Given the description of an element on the screen output the (x, y) to click on. 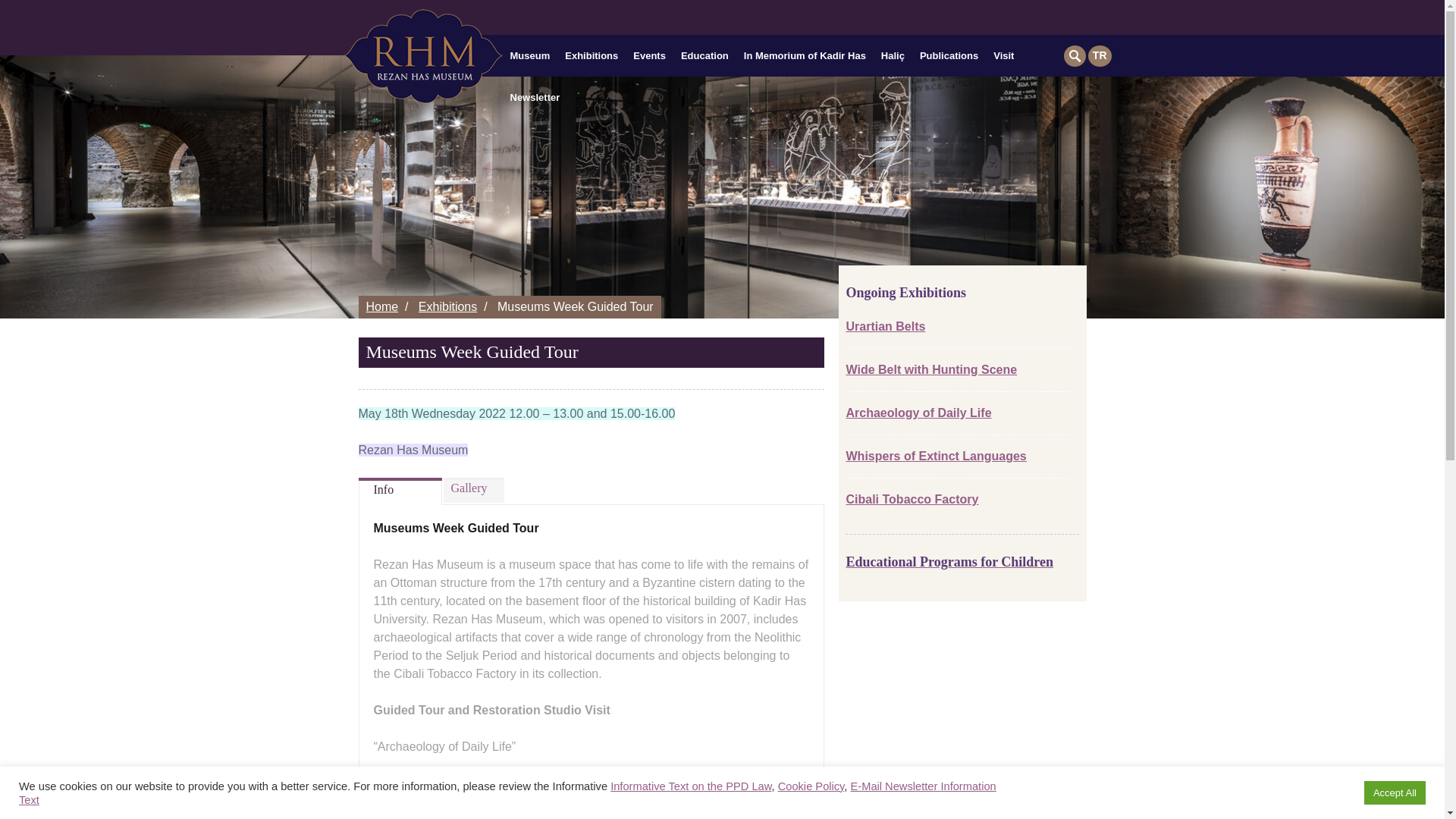
Education (704, 58)
Exhibitions (591, 58)
Events (649, 58)
Gallery (472, 490)
In Memorium of Kadir Has (804, 58)
Museum (529, 58)
TR (1099, 55)
Home (381, 306)
Newsletter (534, 100)
Publications (948, 58)
